Given the description of an element on the screen output the (x, y) to click on. 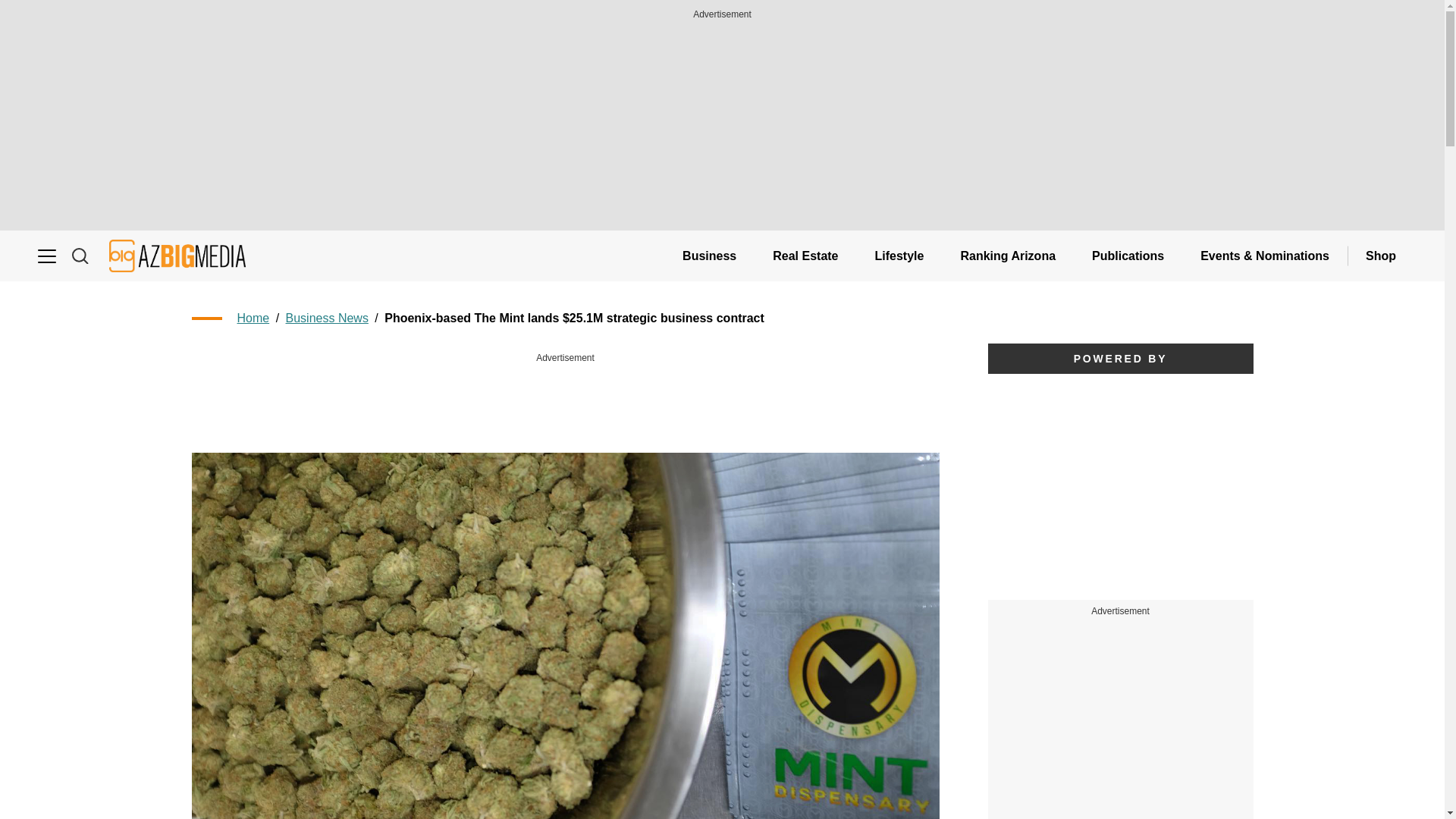
3rd party ad content (565, 400)
Business (708, 255)
3rd party ad content (1119, 486)
AZ Big Media Logo (177, 255)
3rd party ad content (1120, 729)
